Given the description of an element on the screen output the (x, y) to click on. 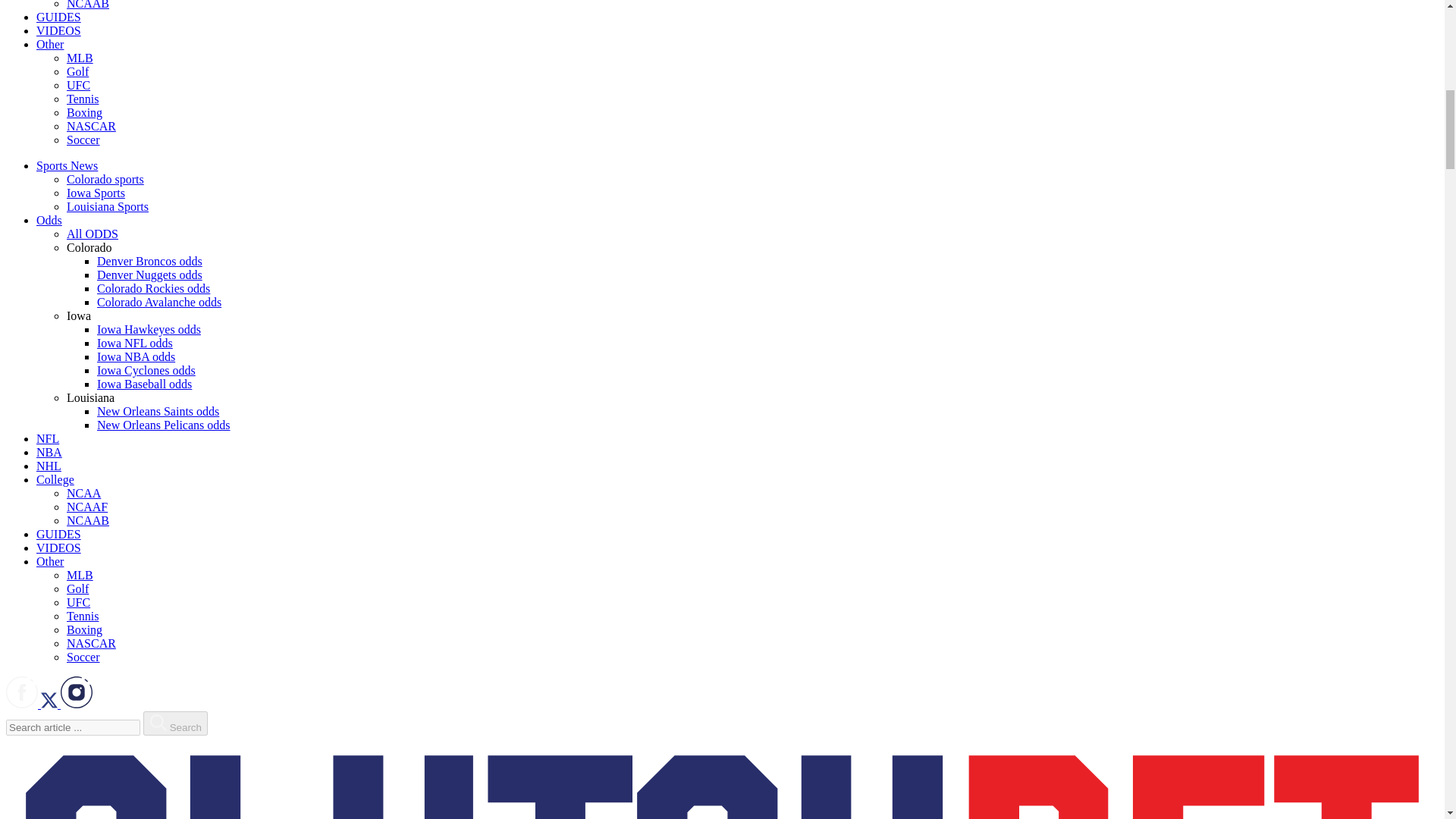
GUIDES (58, 16)
Golf (77, 71)
NCAAB (87, 4)
Other (50, 43)
MLB (79, 57)
VIDEOS (58, 30)
Boxing (83, 112)
NASCAR (91, 125)
Tennis (82, 98)
Soccer (83, 139)
UFC (78, 84)
